Given the description of an element on the screen output the (x, y) to click on. 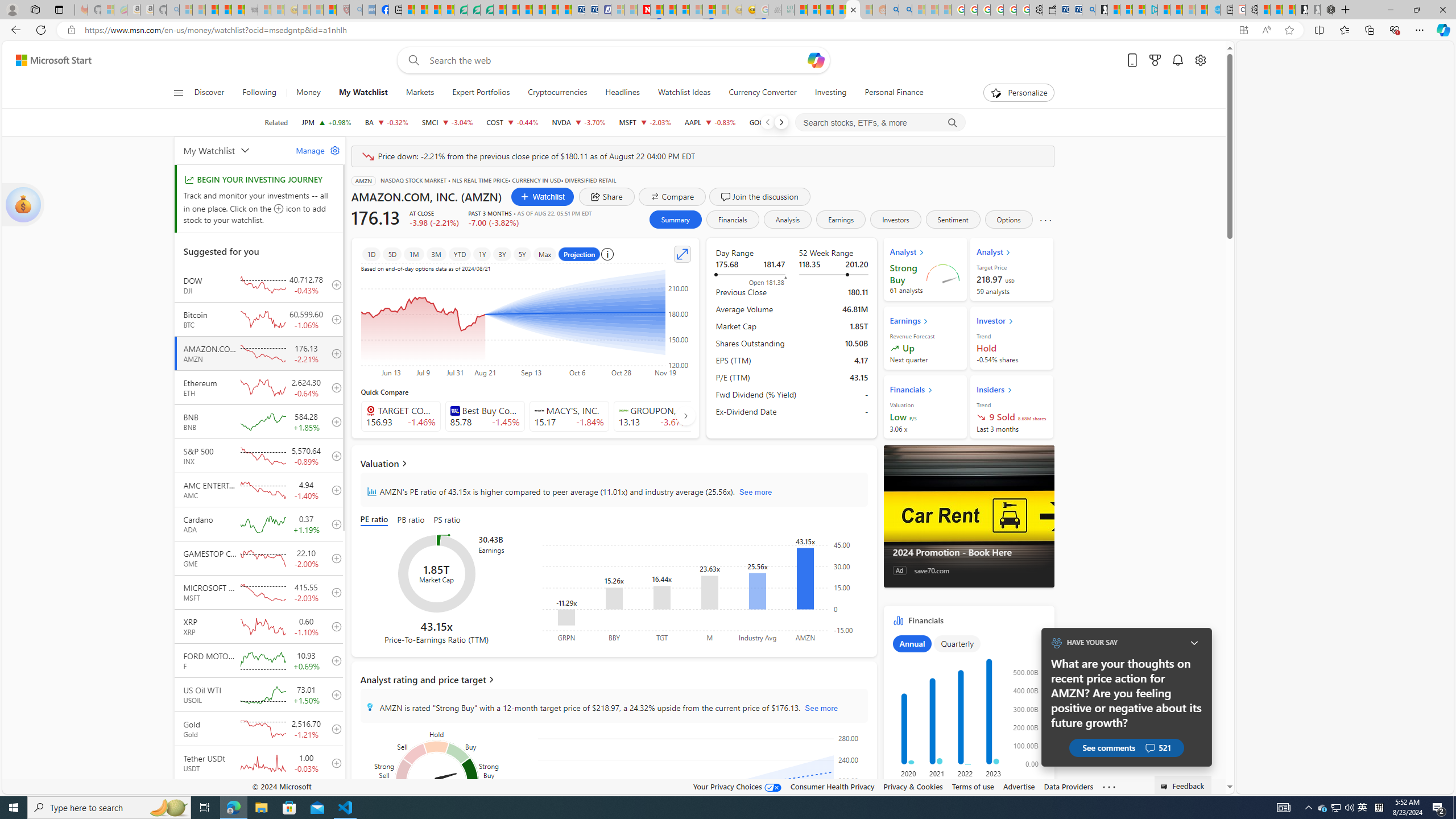
Valuation (613, 463)
Previous (767, 122)
Projection (579, 254)
2024 Promotion - Book Here (968, 516)
Sentiment (952, 219)
AutomationID: finance_carousel_navi_right (685, 415)
